Given the description of an element on the screen output the (x, y) to click on. 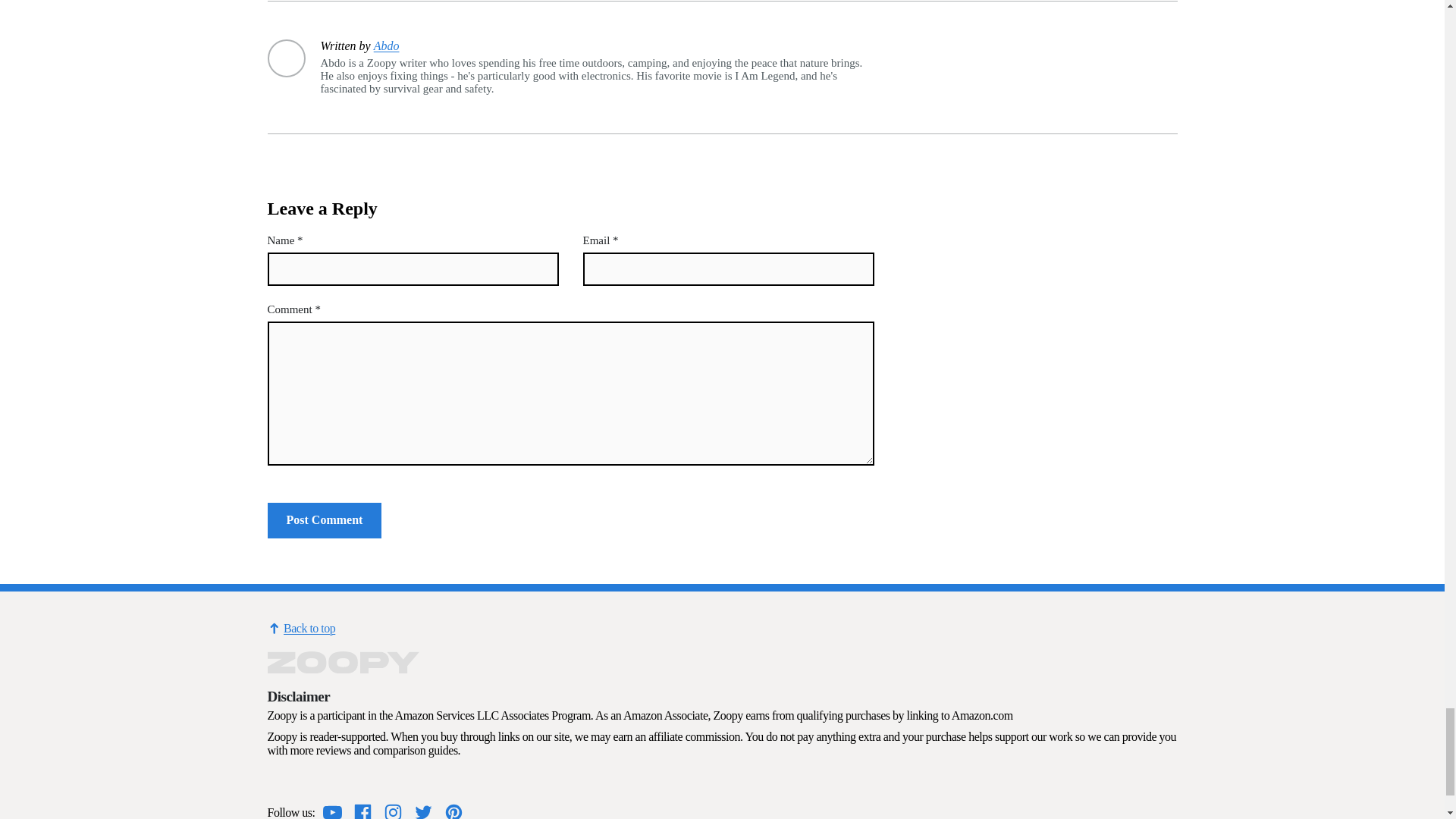
Post Comment (323, 520)
Post Comment (323, 520)
Abdo (386, 45)
DMCA.com Protection Status (304, 783)
